Given the description of an element on the screen output the (x, y) to click on. 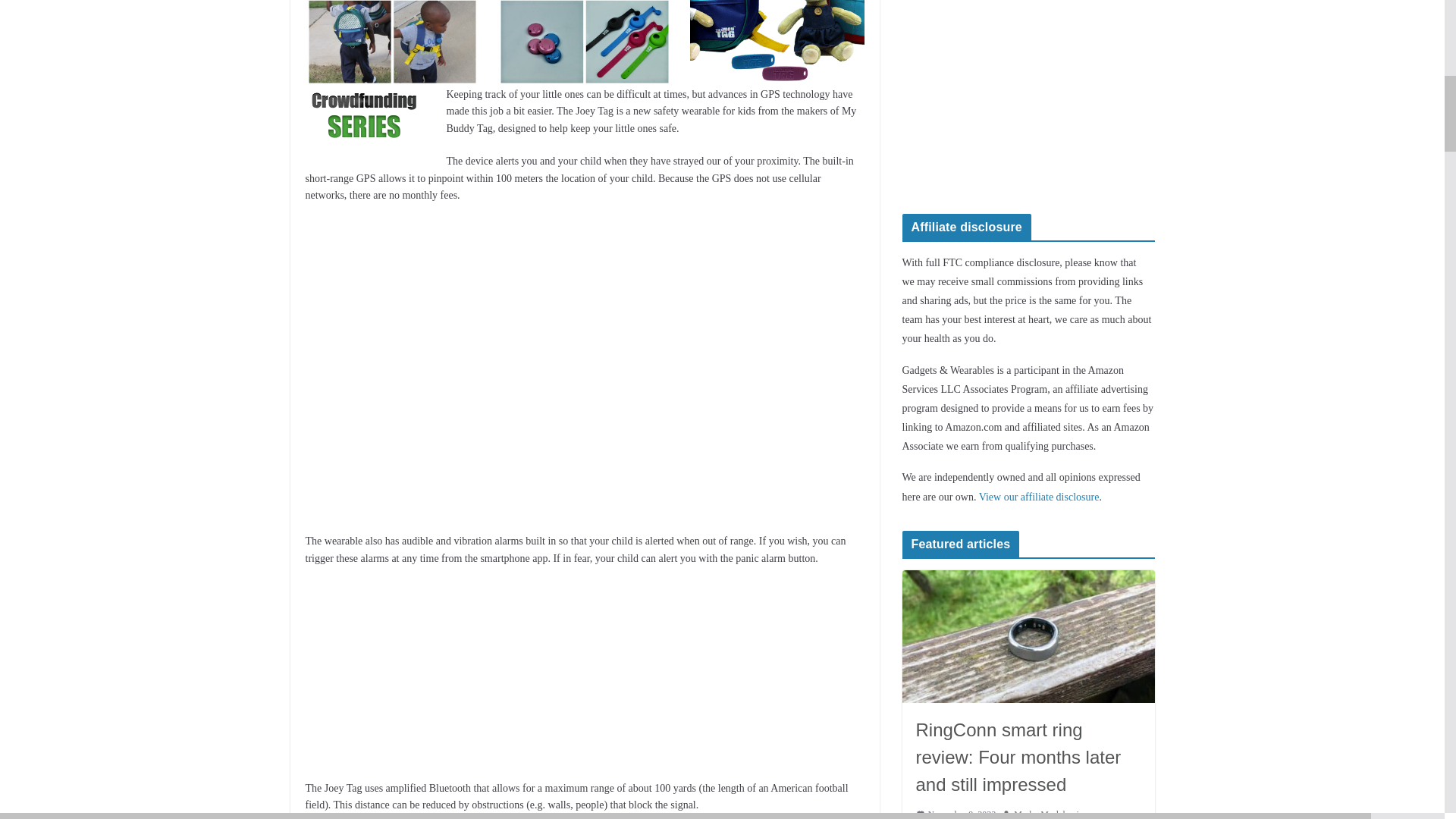
The Joey Tag: Child safety wearable with short-range GPS (363, 115)
